Given the description of an element on the screen output the (x, y) to click on. 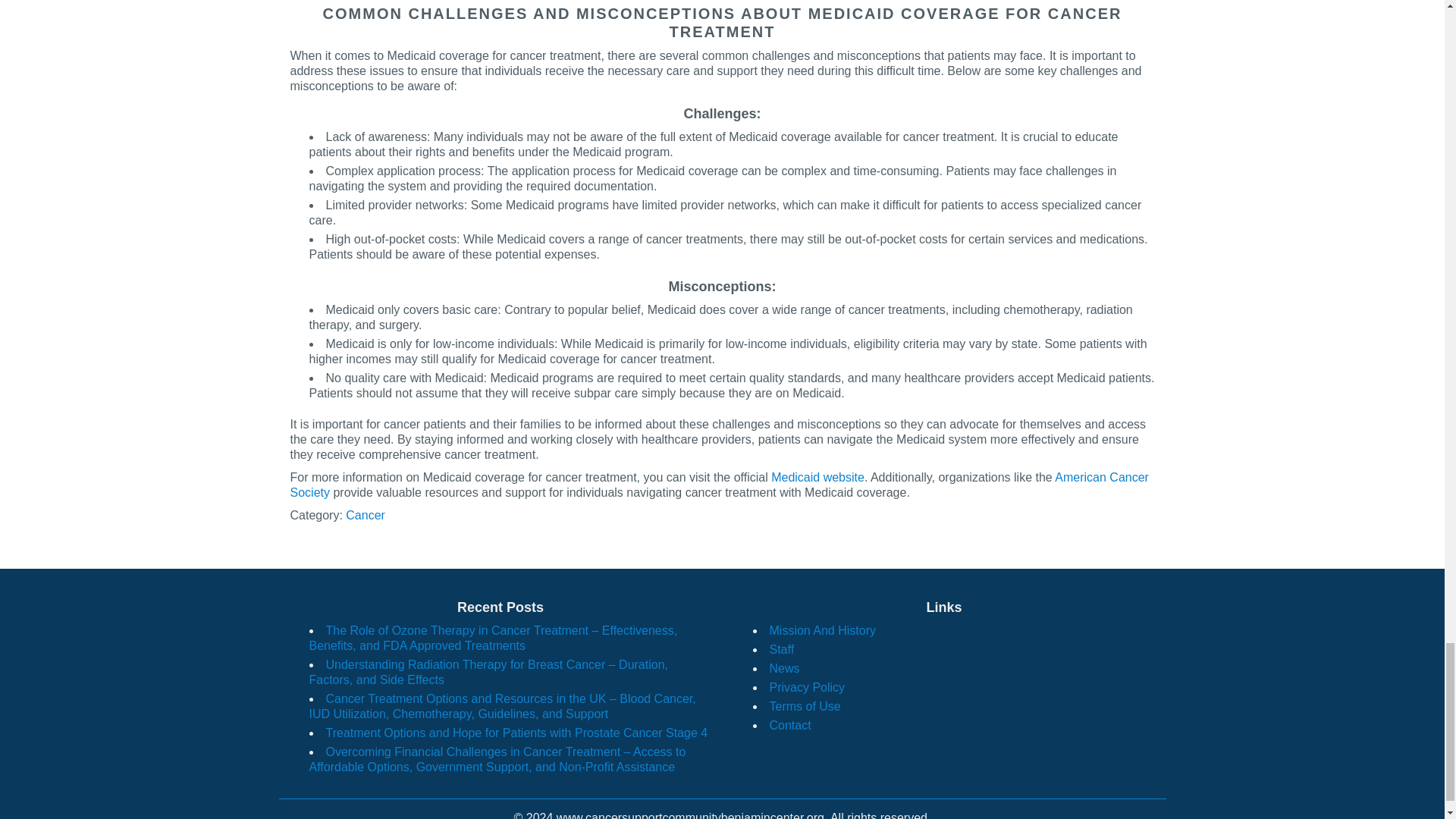
News (783, 667)
Medicaid website (817, 477)
Mission And History (822, 630)
American Cancer Society (718, 484)
Contact (789, 725)
Cancer (365, 514)
Staff (780, 649)
Privacy Policy (806, 686)
Terms of Use (804, 706)
